Given the description of an element on the screen output the (x, y) to click on. 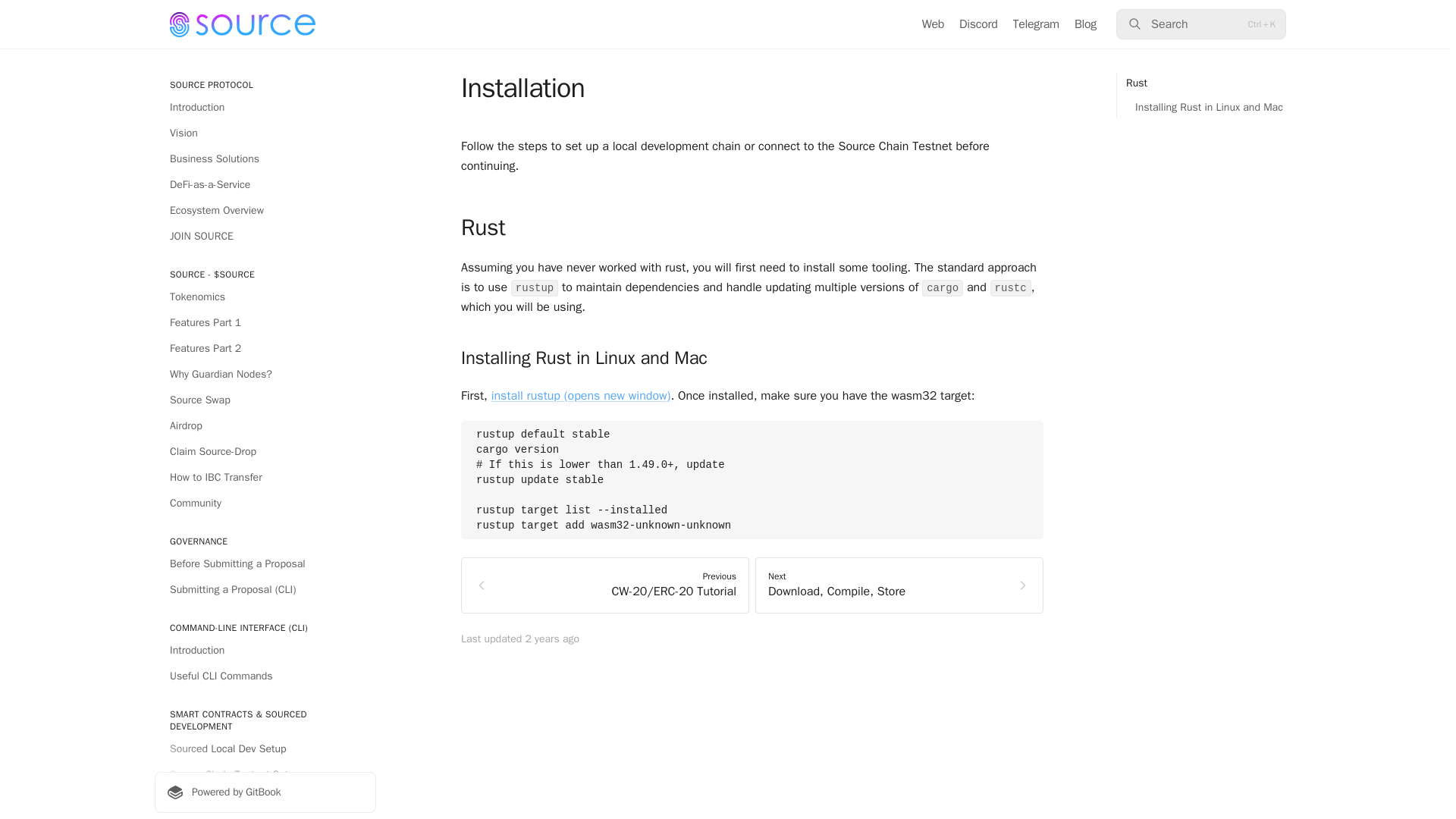
Vision (264, 133)
How to IBC Transfer (264, 477)
JOIN SOURCE (264, 236)
Smart Contracts with COSMWASM (264, 800)
Introduction (264, 650)
Before Submitting a Proposal (264, 564)
Telegram (1036, 24)
Source Chain Testnet Setup (264, 774)
DeFi-as-a-Service (264, 184)
Tokenomics (264, 297)
Features Part 1 (264, 322)
Sourced Local Dev Setup (264, 749)
Why Guardian Nodes? (264, 374)
Features Part 2 (264, 348)
Source Swap (264, 400)
